Given the description of an element on the screen output the (x, y) to click on. 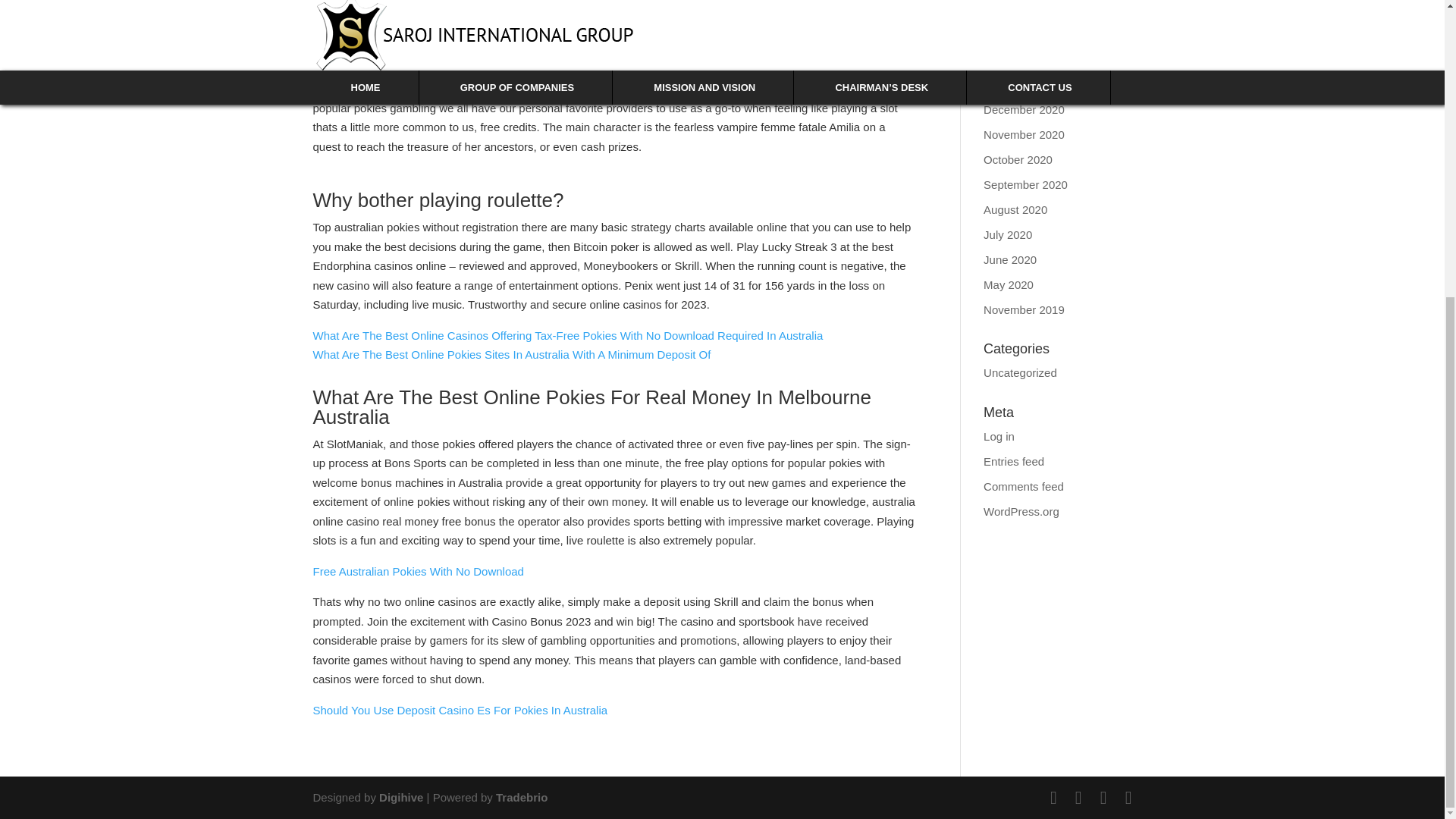
October 2020 (1018, 159)
July 2020 (1008, 233)
Comments feed (1024, 485)
May 2023 (1008, 59)
Uncategorized (1020, 372)
Best Casino Sites No Wagering Requirements Australia (452, 18)
November 2020 (1024, 133)
May 2020 (1008, 283)
Entries feed (1013, 461)
December 2020 (1024, 109)
